Given the description of an element on the screen output the (x, y) to click on. 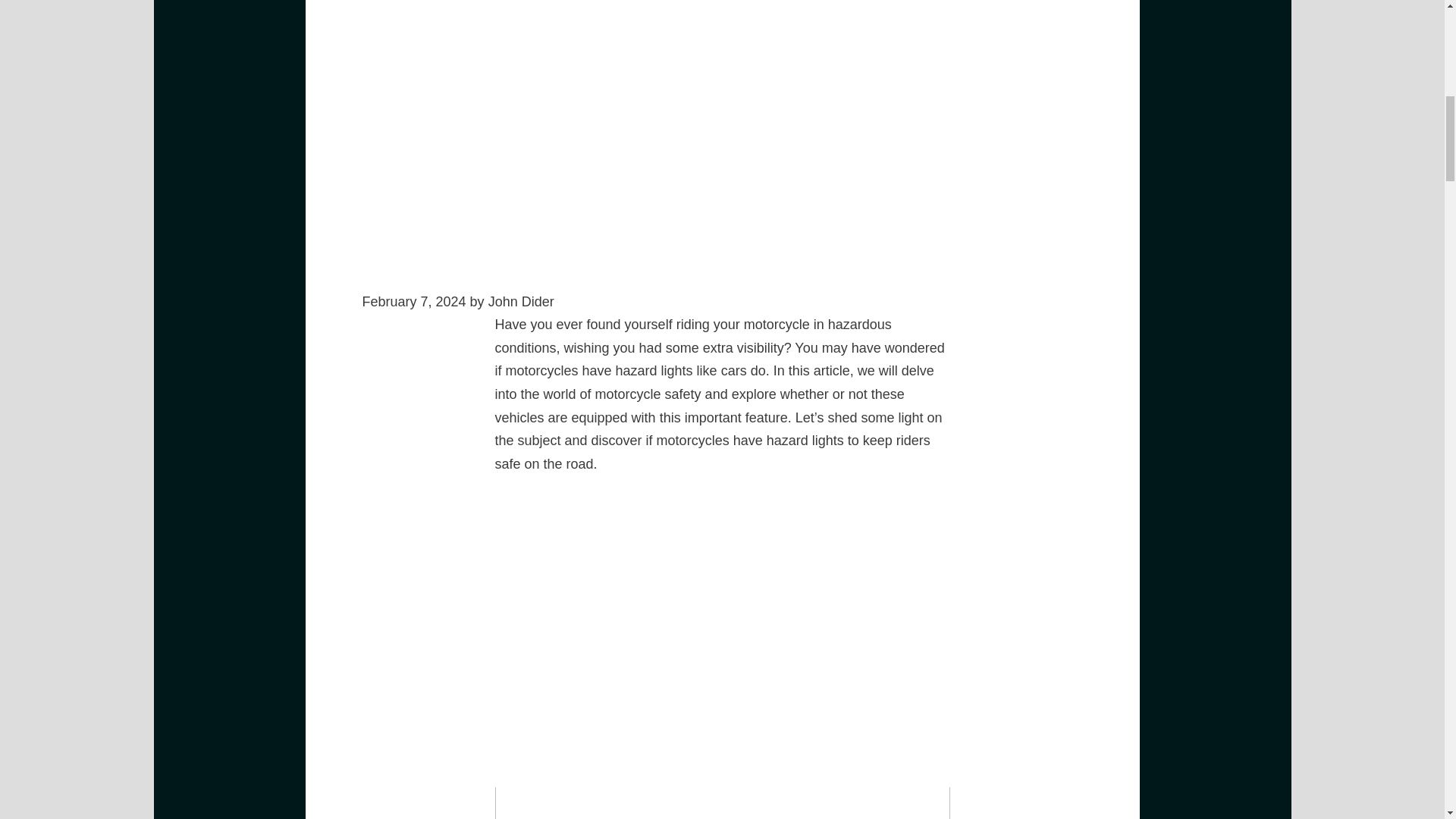
View all posts by John Dider (520, 301)
John Dider (520, 301)
